Given the description of an element on the screen output the (x, y) to click on. 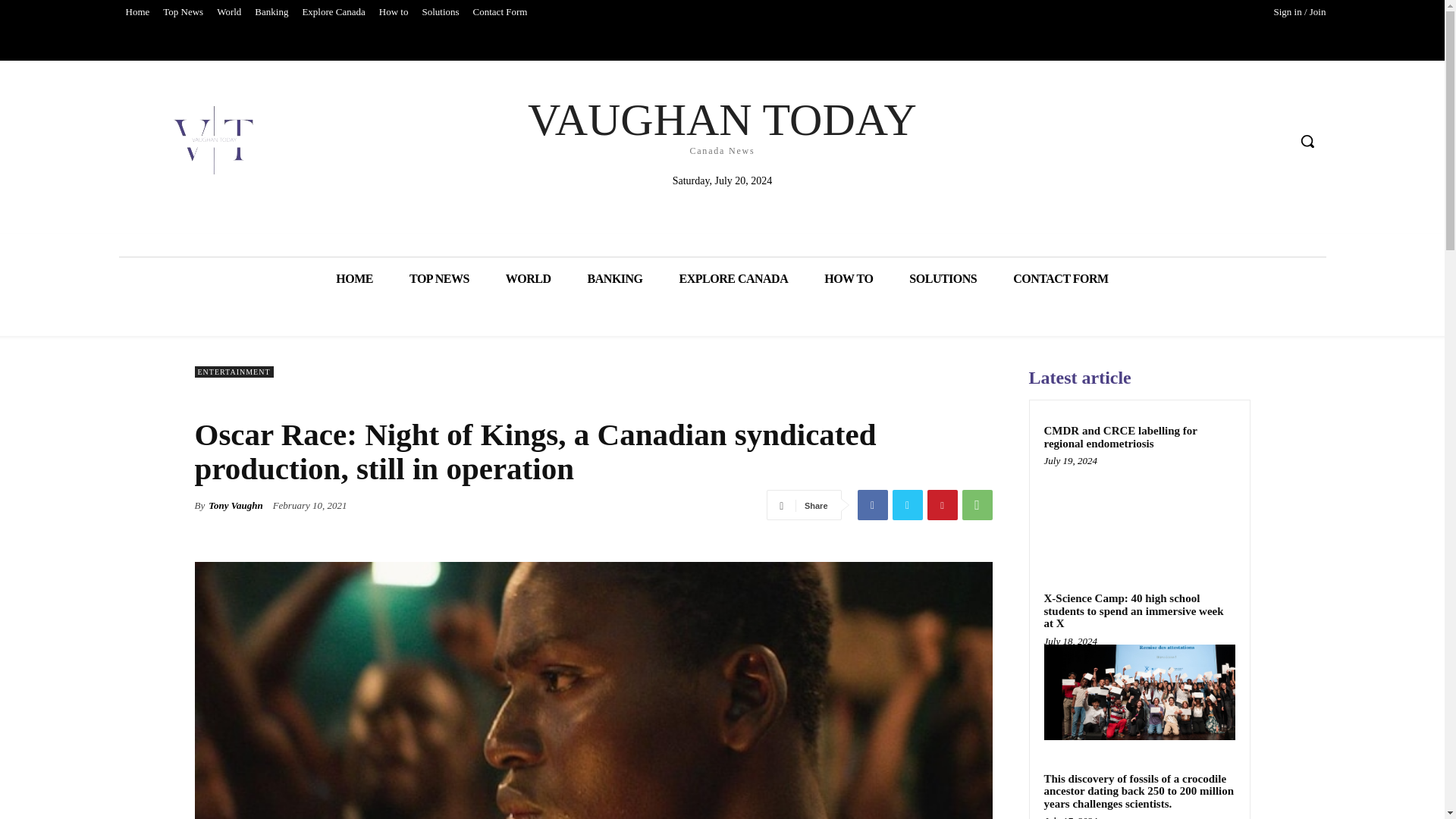
SOLUTIONS (942, 278)
World (228, 12)
BANKING (721, 124)
Banking (615, 278)
Facebook (271, 12)
Home (871, 504)
TOP NEWS (136, 12)
Explore Canada (439, 278)
Solutions (333, 12)
Contact Form (439, 12)
Twitter (499, 12)
WhatsApp (906, 504)
EXPLORE CANADA (975, 504)
